Given the description of an element on the screen output the (x, y) to click on. 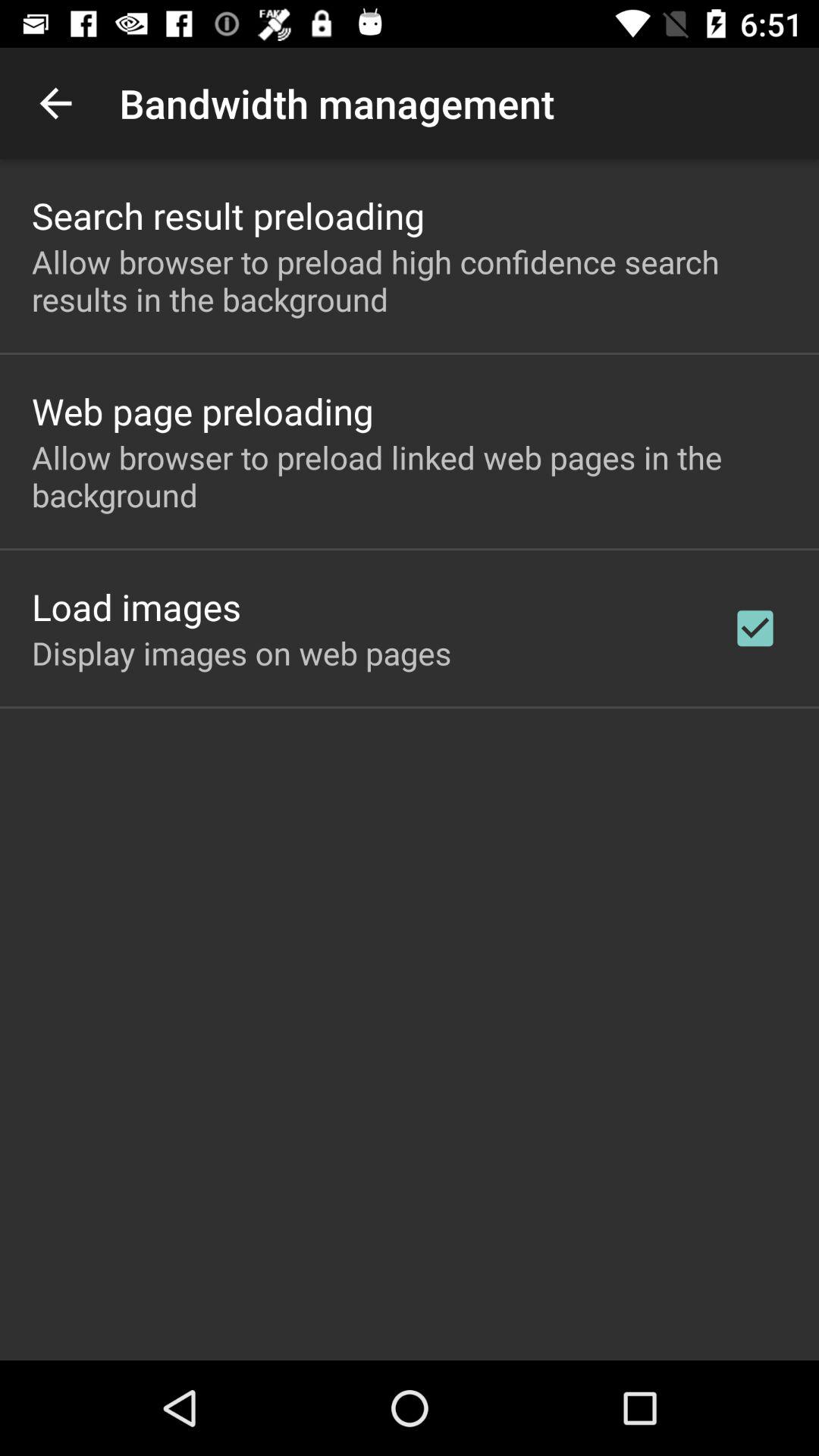
turn on the item above the display images on item (136, 606)
